Given the description of an element on the screen output the (x, y) to click on. 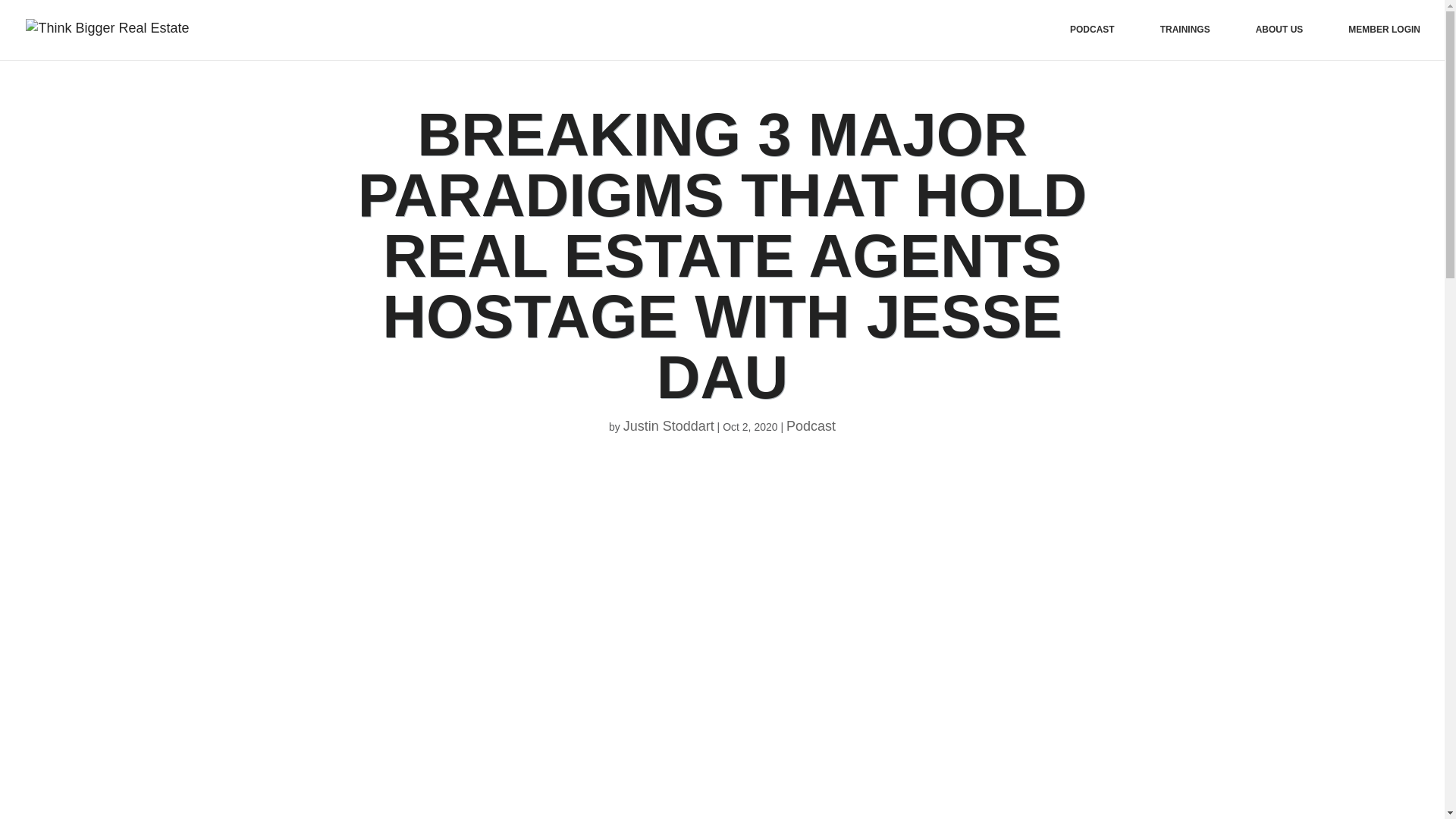
TRAININGS (1184, 41)
ABOUT US (1279, 41)
PODCAST (1092, 41)
Posts by Justin Stoddart (668, 426)
MEMBER LOGIN (1384, 41)
Podcast (810, 426)
Justin Stoddart (668, 426)
